Given the description of an element on the screen output the (x, y) to click on. 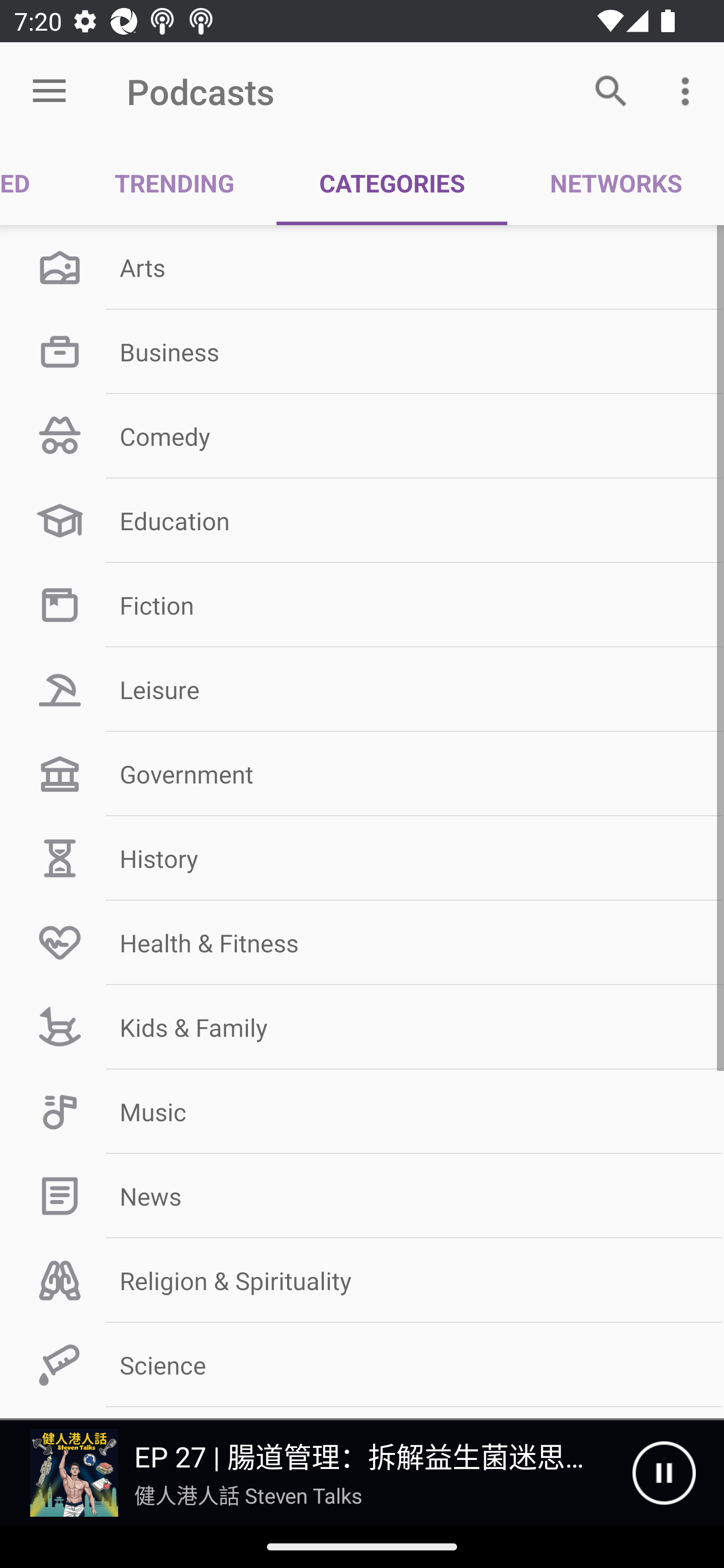
Open menu (49, 91)
Search (611, 90)
More options (688, 90)
TRENDING (174, 183)
CATEGORIES (391, 183)
NETWORKS (615, 183)
Arts (362, 266)
Business (362, 350)
Comedy (362, 435)
Education (362, 520)
Fiction (362, 604)
Leisure (362, 689)
Government (362, 774)
History (362, 858)
Health & Fitness (362, 942)
Kids & Family (362, 1026)
Music (362, 1111)
News (362, 1196)
Religion & Spirituality (362, 1280)
Science (362, 1364)
Pause (663, 1472)
